Given the description of an element on the screen output the (x, y) to click on. 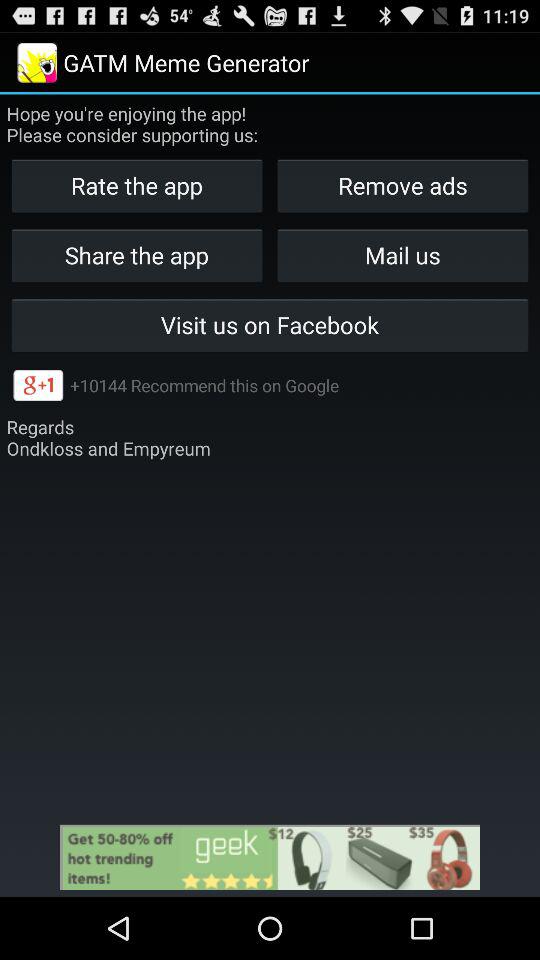
choose visit us on (269, 324)
